Given the description of an element on the screen output the (x, y) to click on. 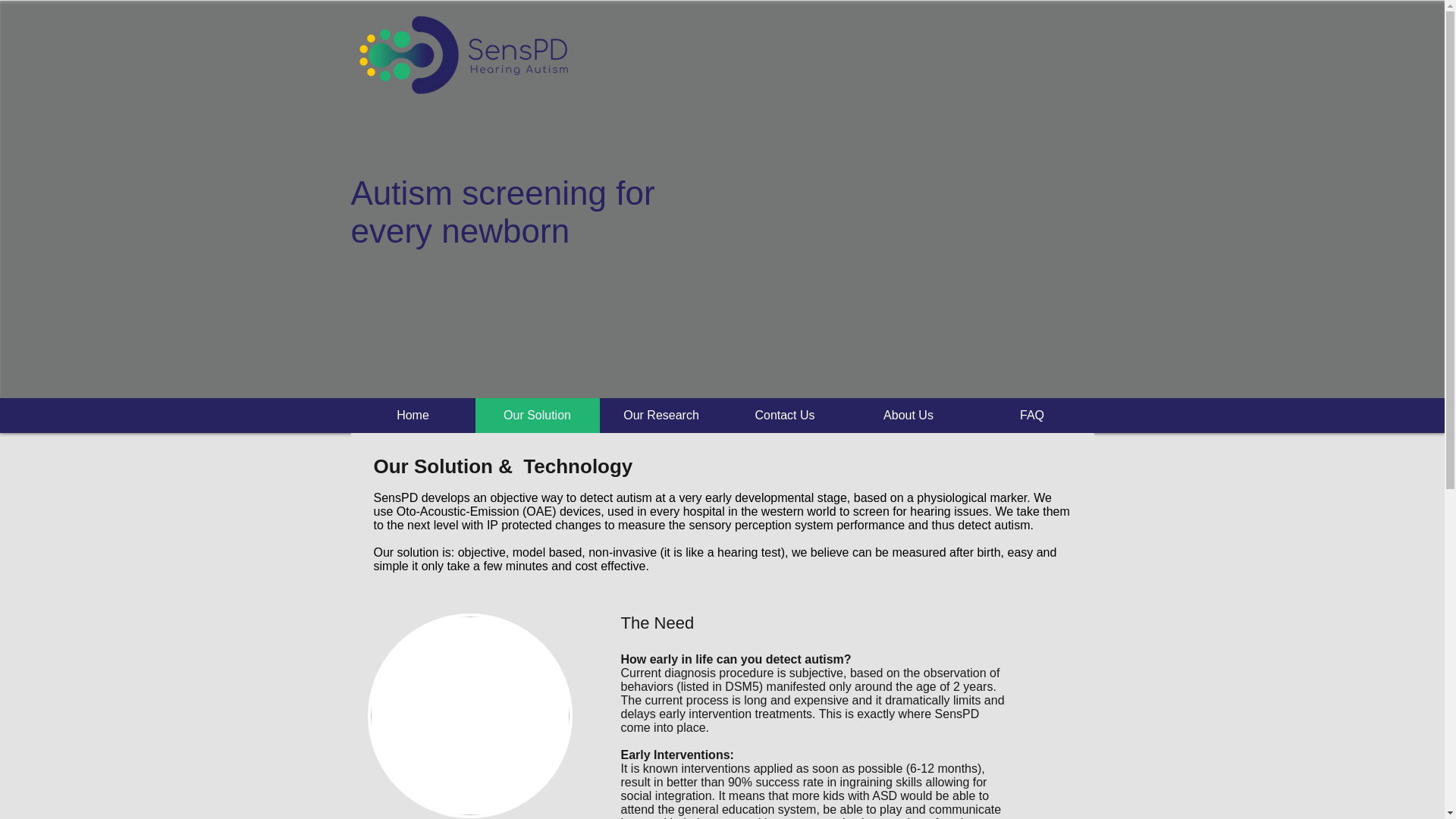
FAQ (1032, 415)
Our Research (660, 415)
Contact Us (785, 415)
Home (412, 415)
About Us (907, 415)
Our Solution (536, 415)
